Given the description of an element on the screen output the (x, y) to click on. 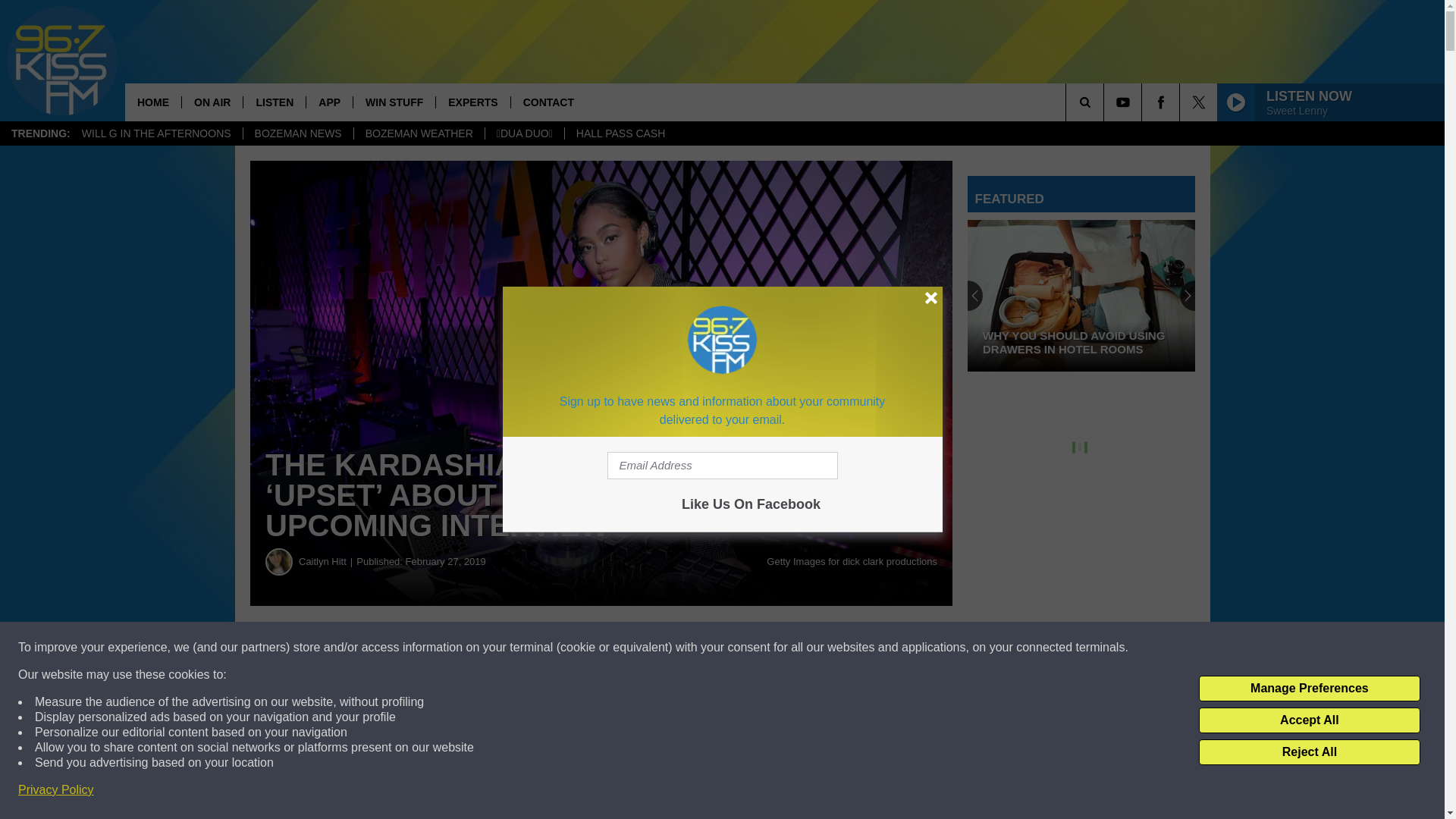
Manage Preferences (1309, 688)
LISTEN (274, 102)
Reject All (1309, 751)
Email Address (722, 465)
SEARCH (1106, 102)
HALL PASS CASH (620, 133)
ON AIR (211, 102)
WILL G IN THE AFTERNOONS (156, 133)
Privacy Policy (55, 789)
BOZEMAN WEATHER (418, 133)
BOZEMAN NEWS (298, 133)
CONTACT (548, 102)
HOME (152, 102)
EXPERTS (472, 102)
APP (328, 102)
